Given the description of an element on the screen output the (x, y) to click on. 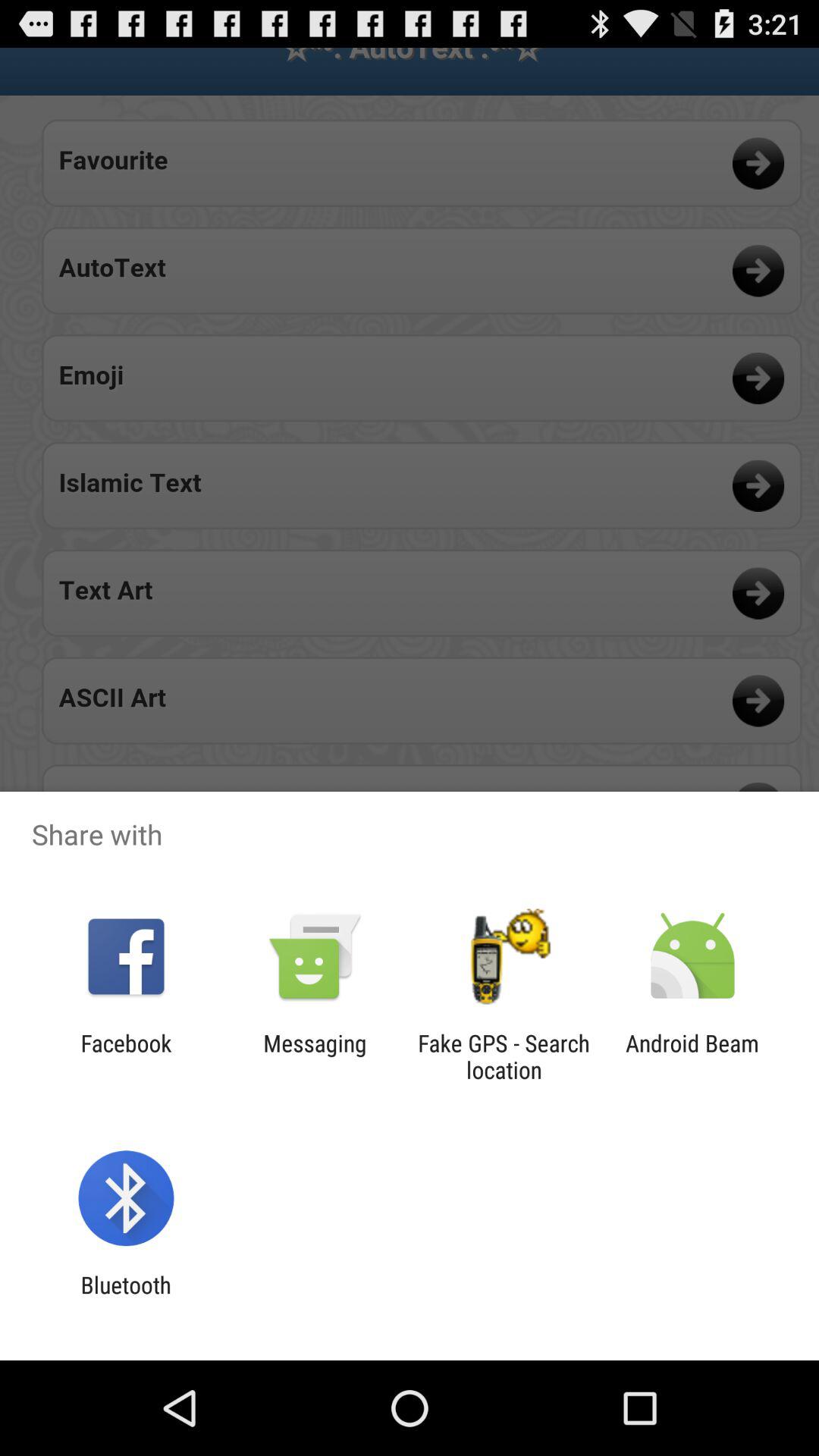
tap android beam item (692, 1056)
